Given the description of an element on the screen output the (x, y) to click on. 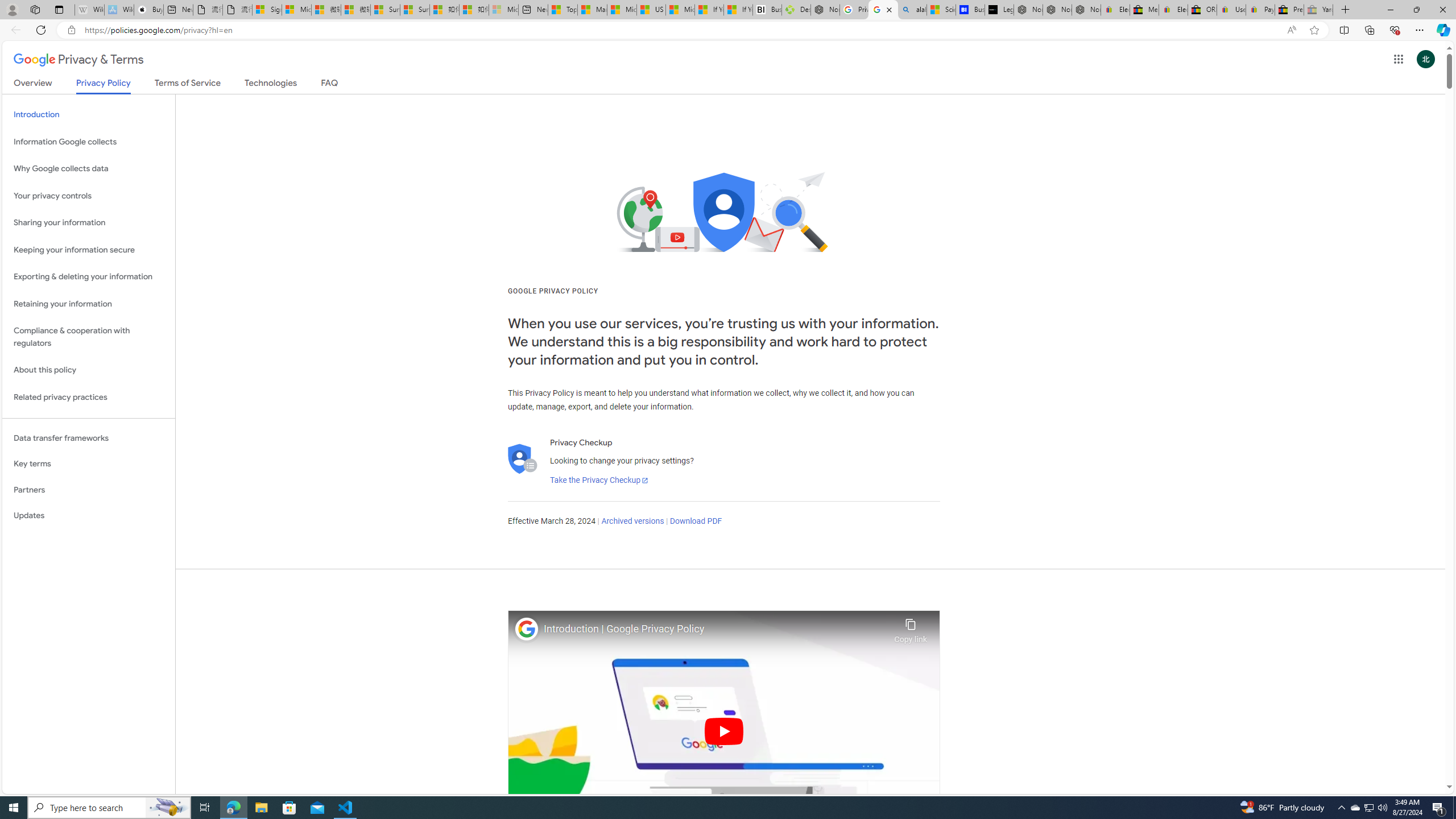
About this policy (88, 370)
Exporting & deleting your information (88, 276)
Nordace - My Account (825, 9)
Keeping your information secure (88, 249)
Privacy Policy (103, 85)
Microsoft account | Account Checkup - Sleeping (502, 9)
Google apps (1398, 58)
